Given the description of an element on the screen output the (x, y) to click on. 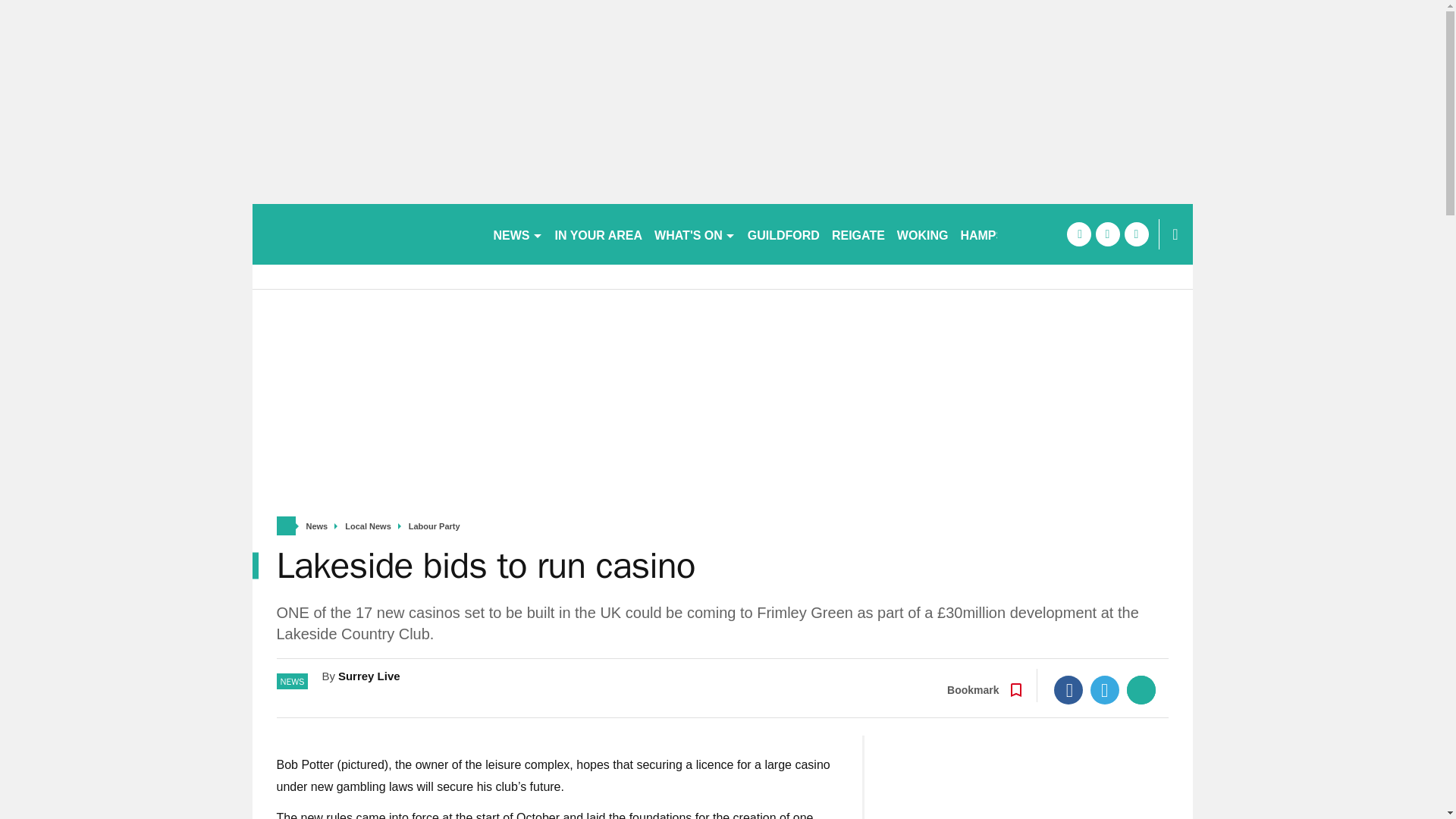
HAMPSHIRE (996, 233)
getsurrey (365, 233)
twitter (1106, 233)
Twitter (1104, 689)
WHAT'S ON (694, 233)
GUILDFORD (783, 233)
NEWS (517, 233)
REIGATE (858, 233)
facebook (1077, 233)
IN YOUR AREA (598, 233)
